Given the description of an element on the screen output the (x, y) to click on. 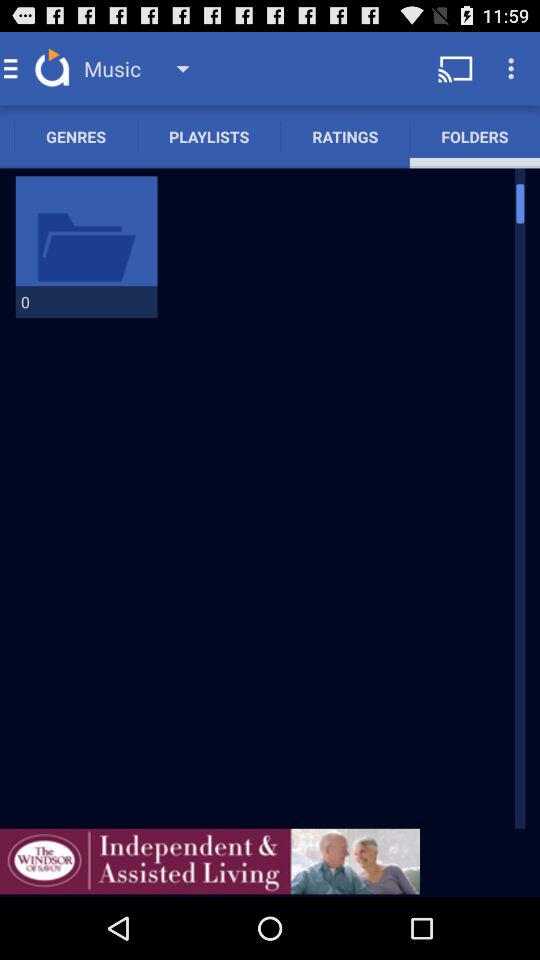
click advertisement (210, 861)
